Given the description of an element on the screen output the (x, y) to click on. 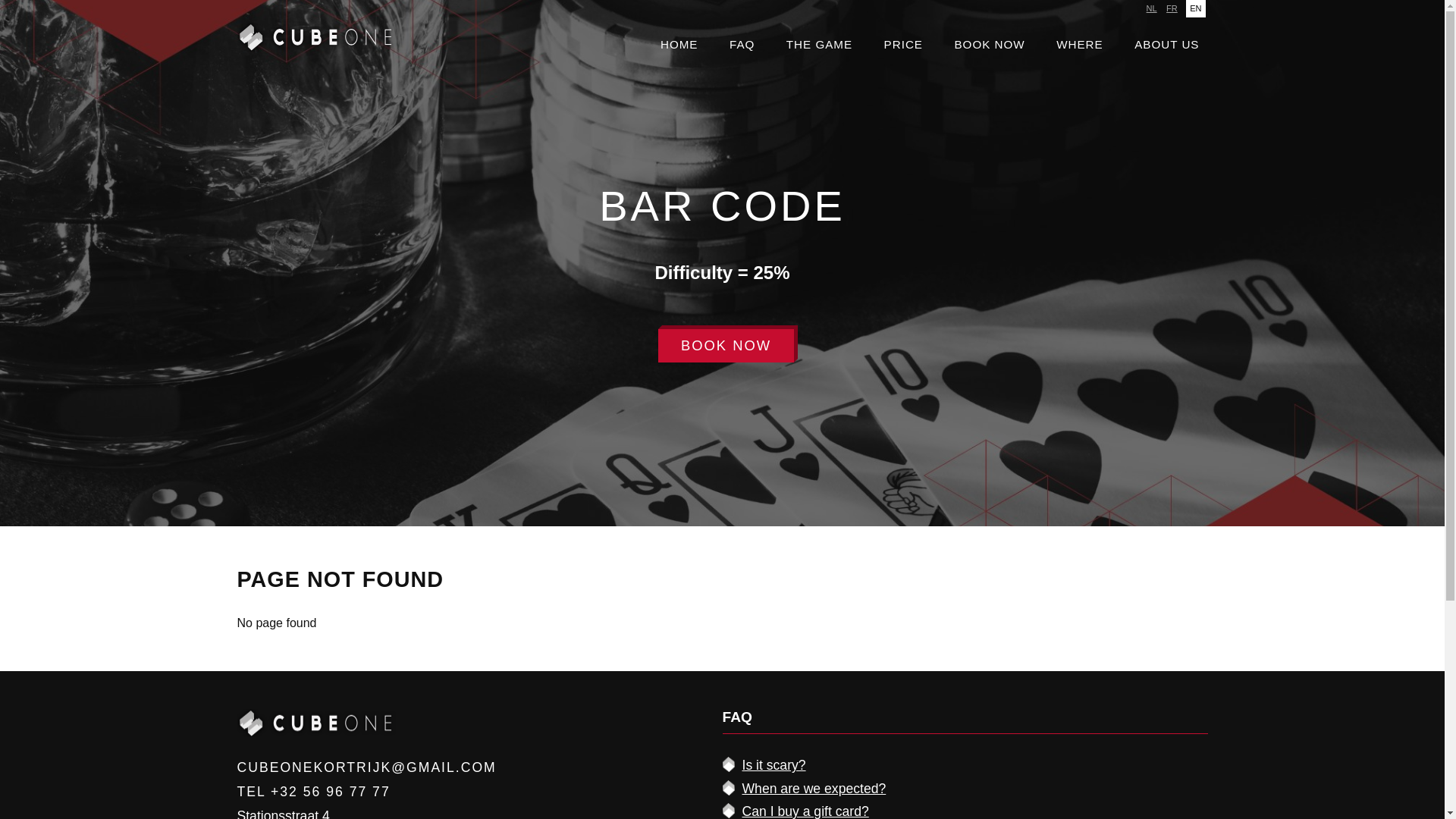
THE GAME Element type: text (819, 44)
BOOK NOW Element type: text (725, 345)
EN Element type: text (1195, 8)
BOOK NOW Element type: text (988, 44)
ABOUT US Element type: text (1166, 44)
Is it scary? Element type: text (773, 764)
FAQ Element type: text (741, 44)
NL Element type: text (1151, 8)
TEL +32 56 96 77 77 Element type: text (312, 791)
FR Element type: text (1171, 8)
When are we expected? Element type: text (813, 788)
CUBEONEKORTRIJK@GMAIL.COM Element type: text (365, 767)
HOME Element type: text (679, 44)
WHERE Element type: text (1079, 44)
BAR CODE Element type: text (722, 205)
PRICE Element type: text (903, 44)
